Given the description of an element on the screen output the (x, y) to click on. 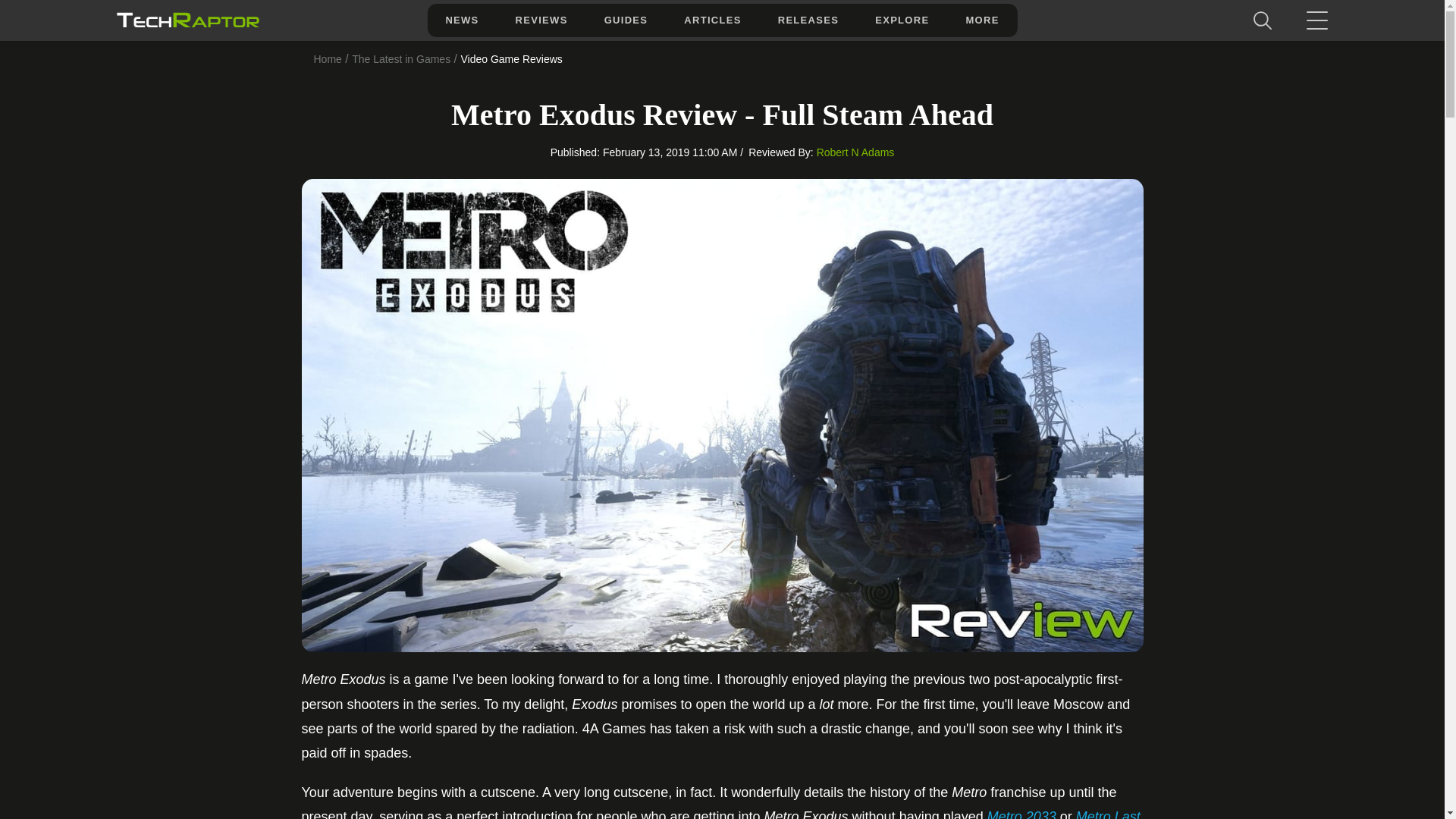
REVIEWS (541, 20)
NEWS (461, 20)
RELEASES (807, 20)
ARTICLES (711, 20)
GUIDES (626, 20)
TechRaptor Home (187, 20)
